Given the description of an element on the screen output the (x, y) to click on. 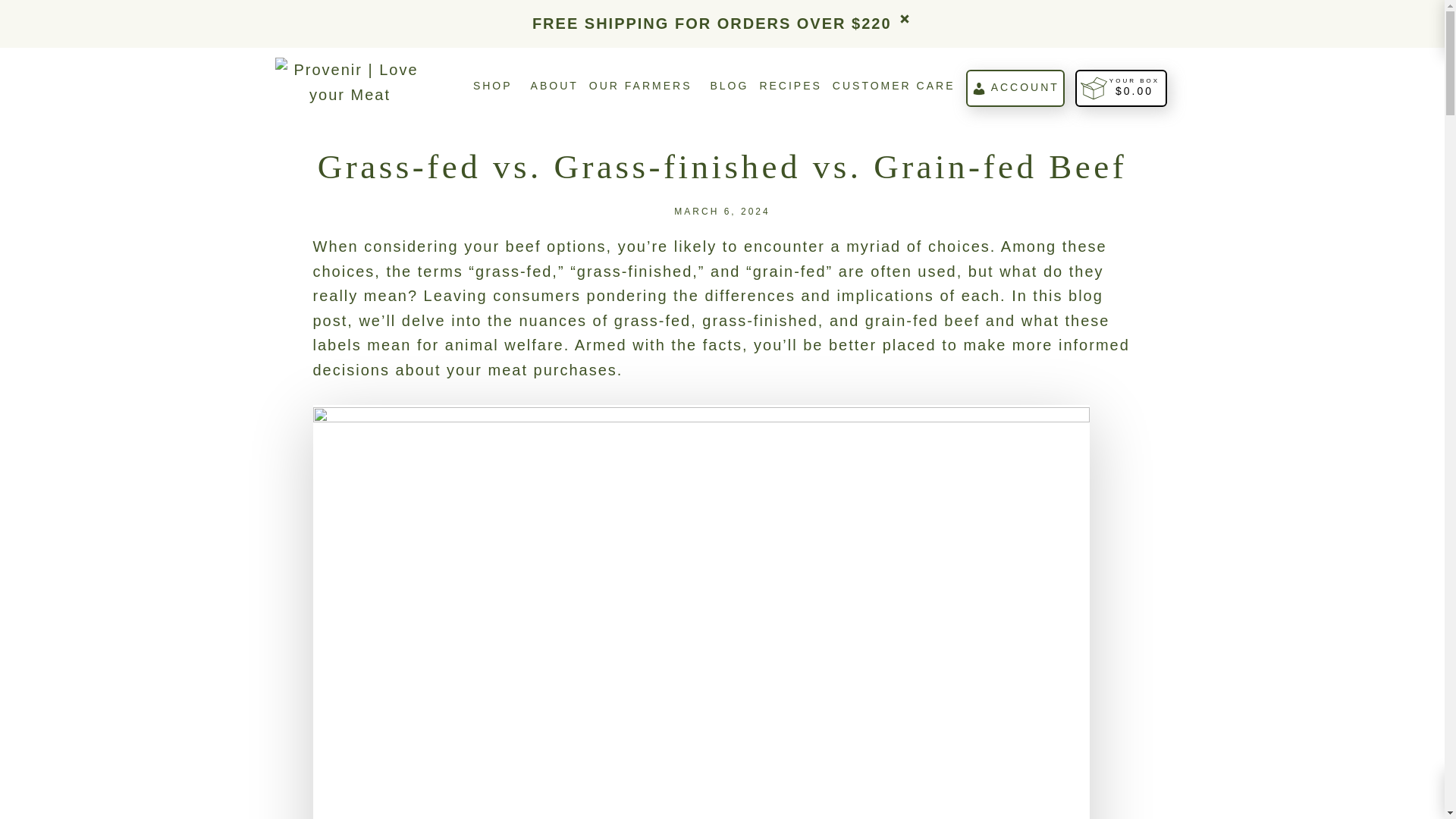
OUR FARMERS (641, 87)
SHOP (492, 87)
RECIPES (789, 87)
BLOG (729, 87)
ACCOUNT (1015, 88)
ABOUT (554, 87)
Our Farmers (641, 87)
Online Butcher Shop (492, 87)
CUSTOMER CARE (893, 87)
